Given the description of an element on the screen output the (x, y) to click on. 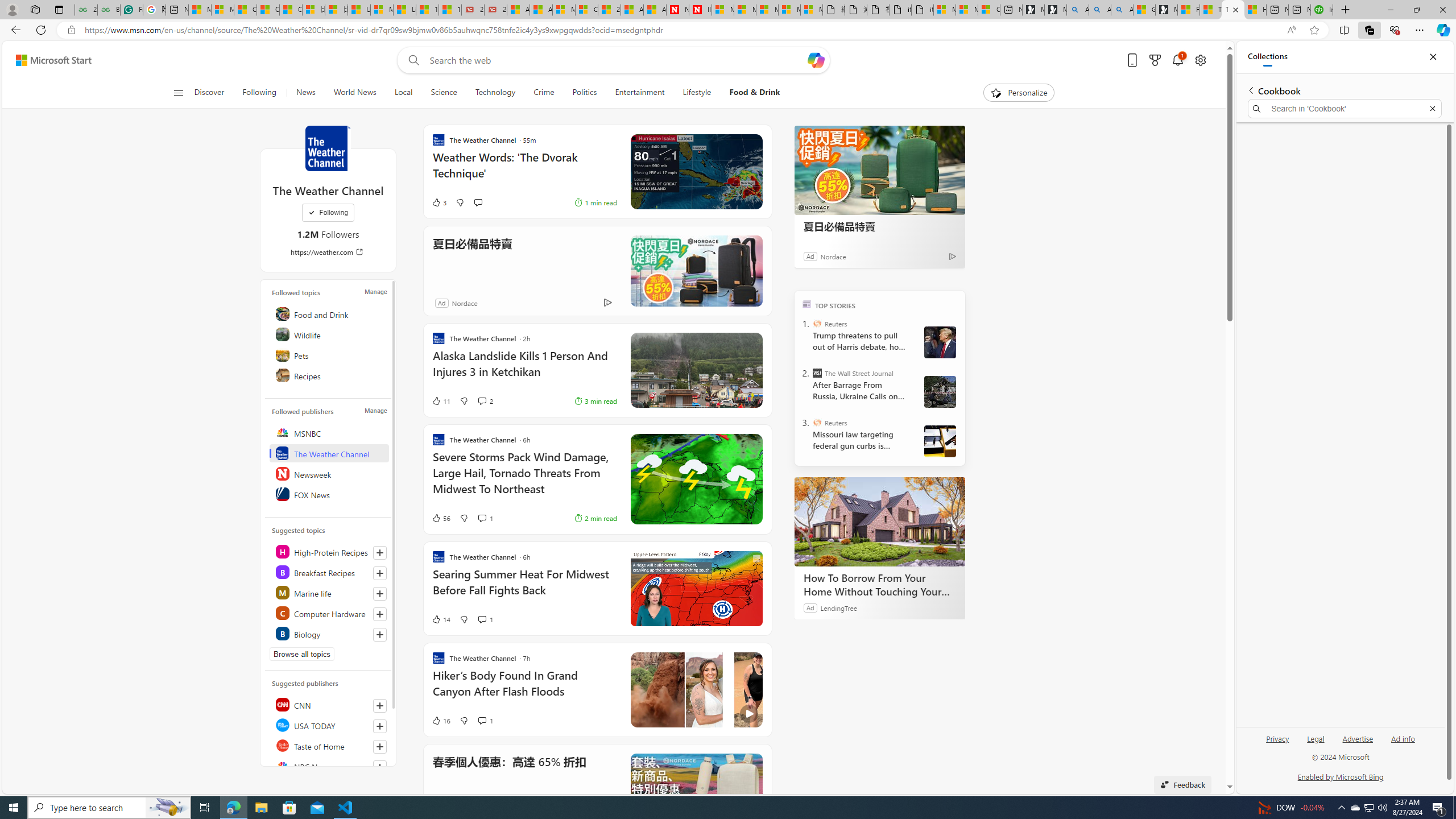
itconcepthk.com/projector_solutions.mp4 (923, 9)
Alaska Landslide Kills 1 Person And Injures 3 in Ketchikan (524, 369)
The Weather Channel (327, 148)
Newsweek (328, 473)
Search in 'Cookbook' (1345, 108)
LendingTree (838, 607)
The Weather Channel - MSN (1233, 9)
